Given the description of an element on the screen output the (x, y) to click on. 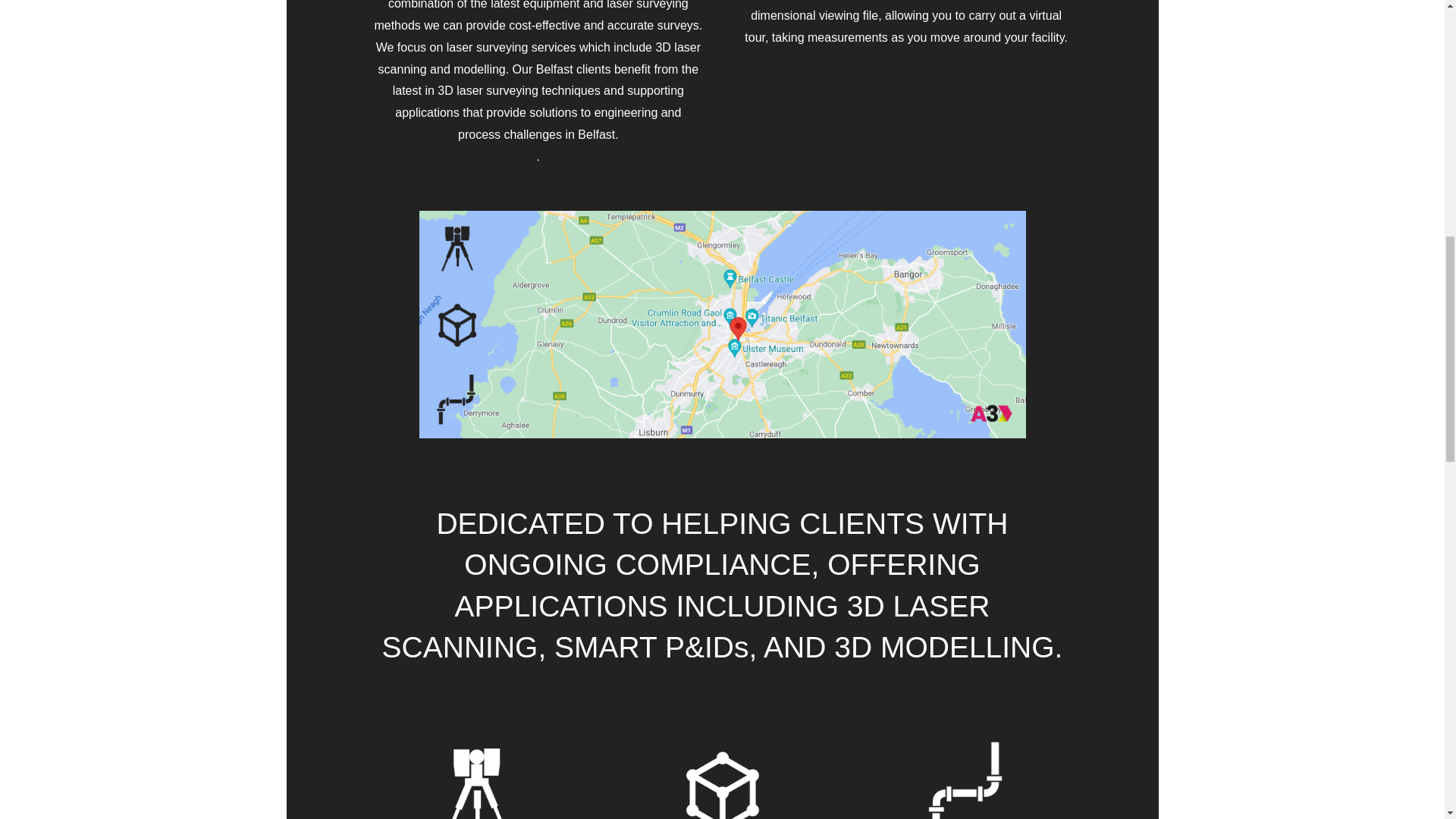
laser-white (476, 769)
3d-white (721, 769)
pid-white (967, 769)
